Given the description of an element on the screen output the (x, y) to click on. 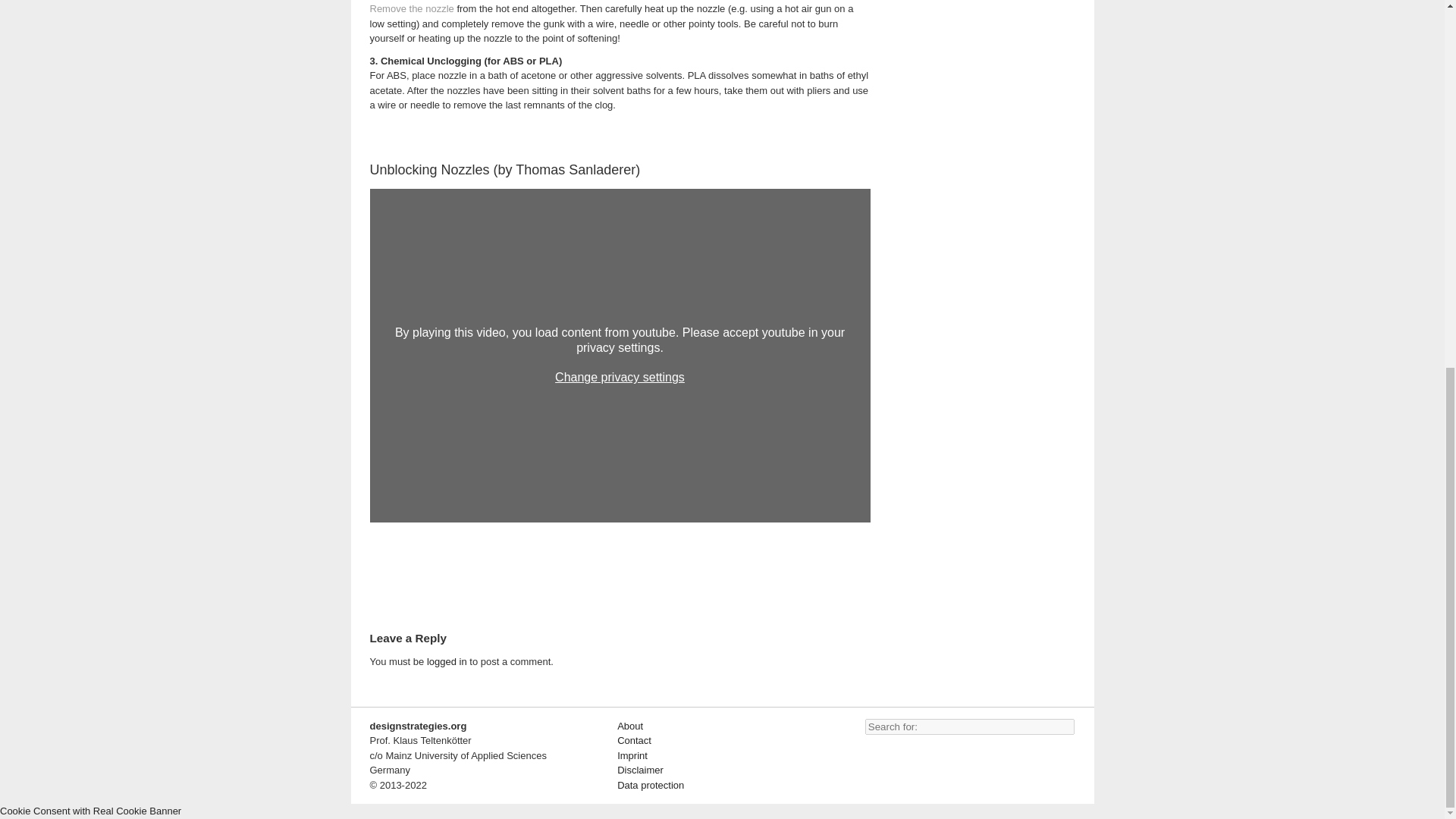
logged in (446, 661)
designstrategies on facebook (910, 756)
Data protection (650, 784)
Disclaimer (640, 769)
Cookie Consent with Real Cookie Banner (90, 810)
designstrategies on youtube (876, 756)
About (630, 725)
facebook (910, 756)
Imprint (632, 755)
Remove the nozzle (411, 8)
